Given the description of an element on the screen output the (x, y) to click on. 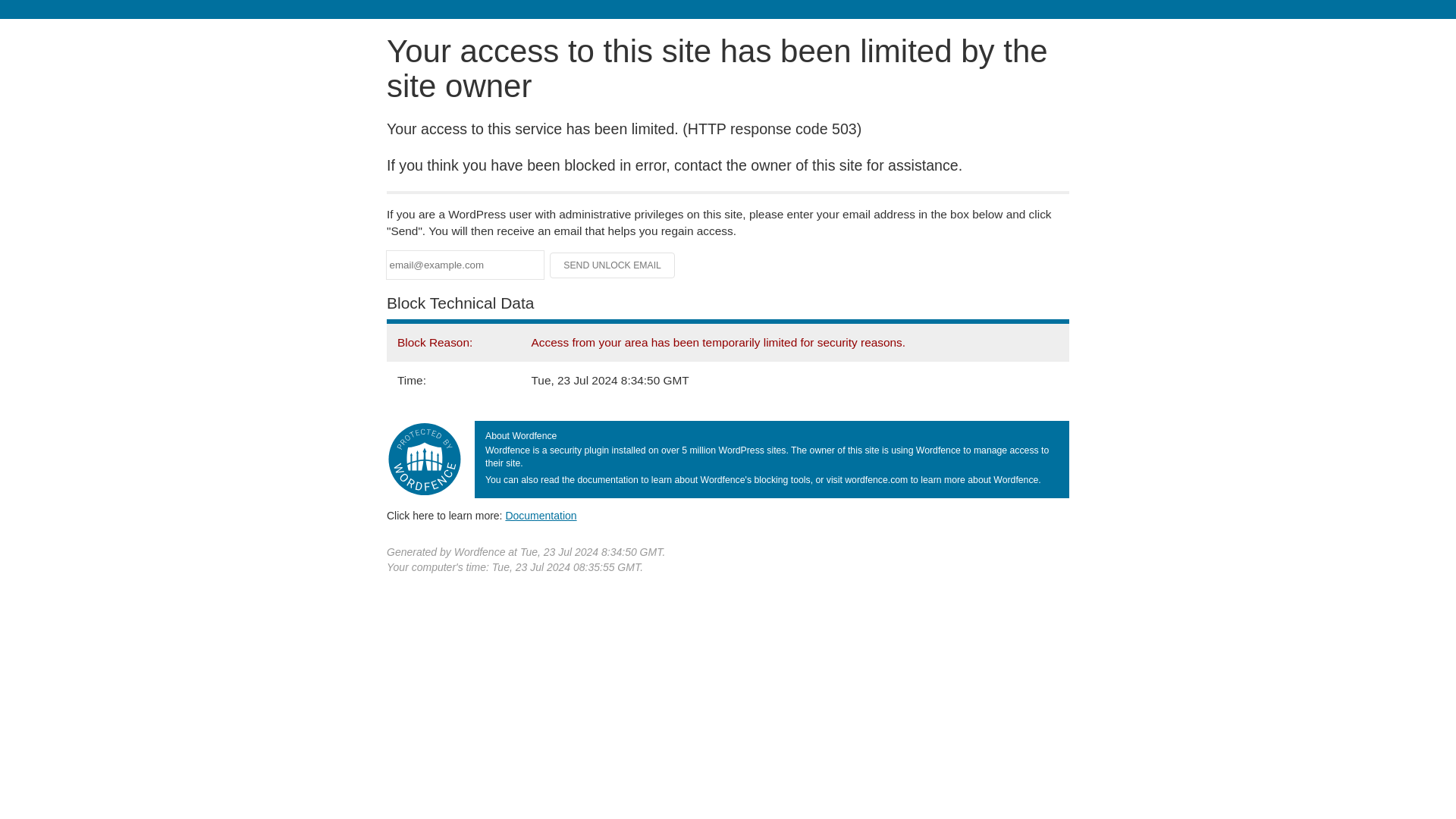
Documentation (540, 515)
Send Unlock Email (612, 265)
Send Unlock Email (612, 265)
